Given the description of an element on the screen output the (x, y) to click on. 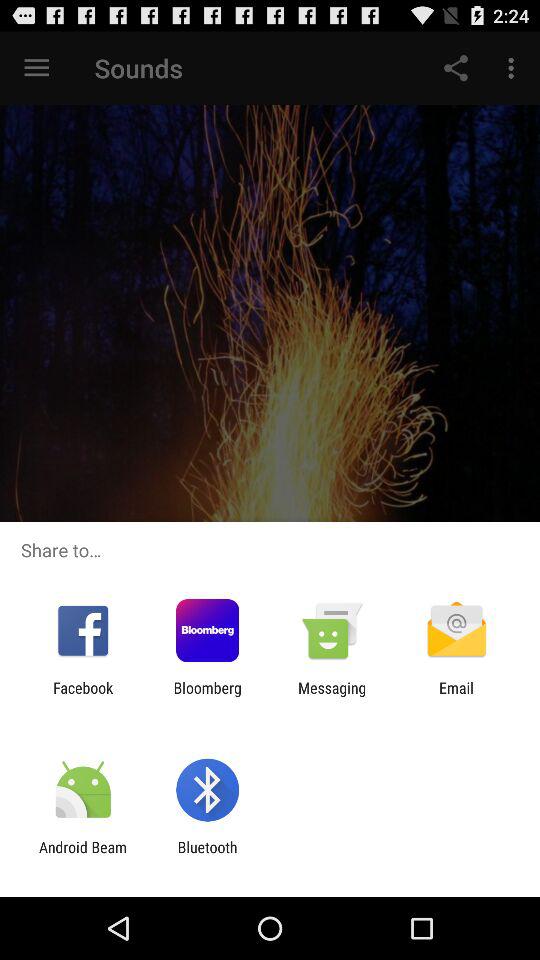
turn on the icon next to the messaging item (456, 696)
